Given the description of an element on the screen output the (x, y) to click on. 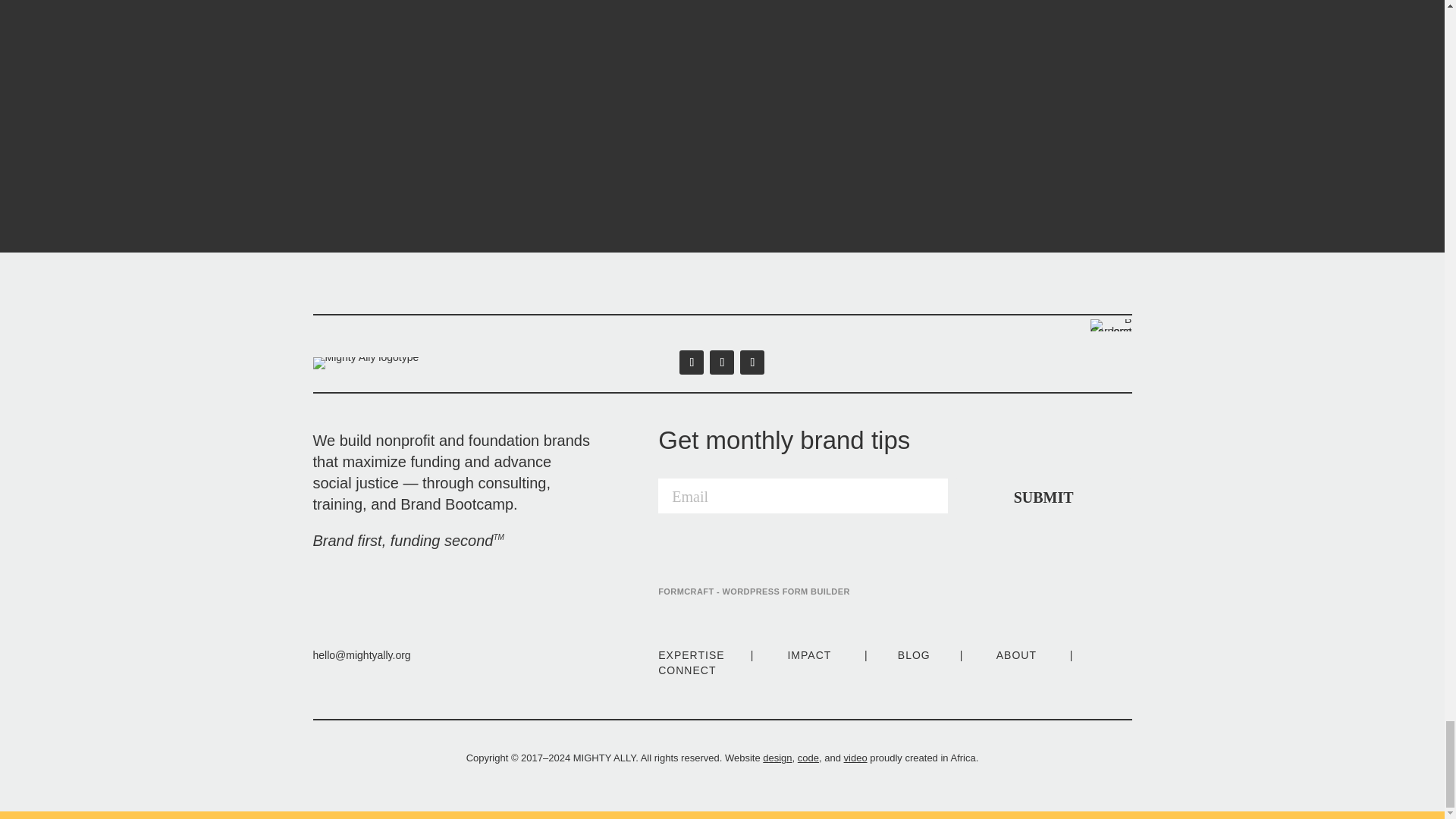
Follow on Facebook (751, 362)
IMPACT (809, 654)
Certified-B-Corporation-black-Mighty-Ally (1110, 325)
Follow on X (721, 362)
ABOUT (1015, 654)
BLOG (914, 654)
FORMCRAFT - WORDPRESS FORM BUILDER (754, 591)
MIGHTY-ALLY-logotype-black (366, 363)
SUBMIT (1043, 495)
Follow on LinkedIn (691, 362)
EXPERTISE (690, 654)
CONNECT (687, 670)
